Given the description of an element on the screen output the (x, y) to click on. 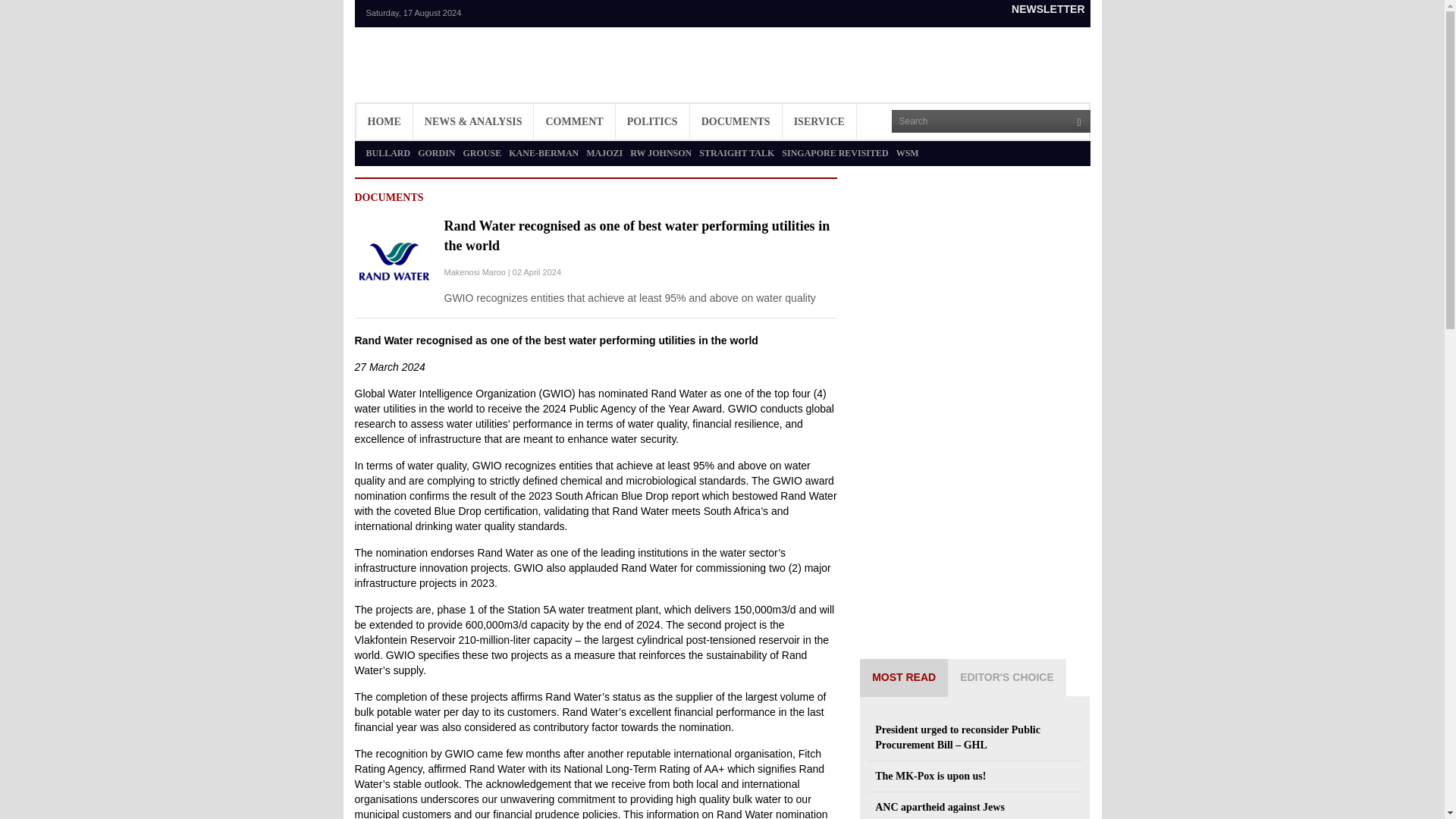
GORDIN (435, 153)
RW JOHNSON (660, 153)
DOCUMENTS (735, 121)
PoliticsWeb Home (438, 72)
COMMENT (574, 121)
GROUSE (482, 153)
ISERVICE (819, 121)
WSM (907, 153)
BULLARD (387, 153)
KANE-BERMAN (543, 153)
